Given the description of an element on the screen output the (x, y) to click on. 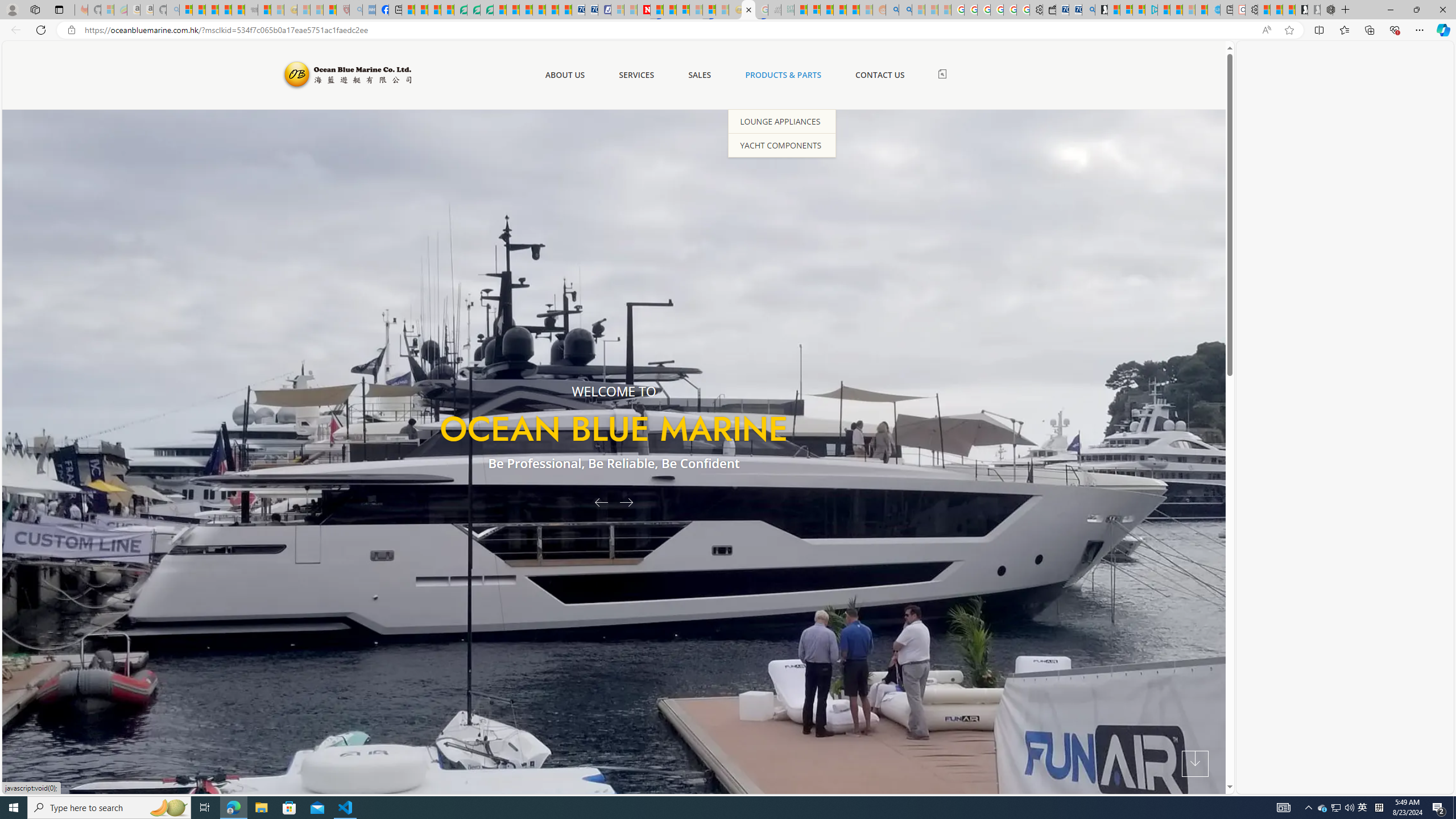
Next Section (1195, 764)
14 Common Myths Debunked By Scientific Facts (669, 9)
Bing Real Estate - Home sales and rental listings (1088, 9)
PRODUCTS & PARTSLOUNGE APPLIANCESYACHT COMPONENTS (783, 74)
